Given the description of an element on the screen output the (x, y) to click on. 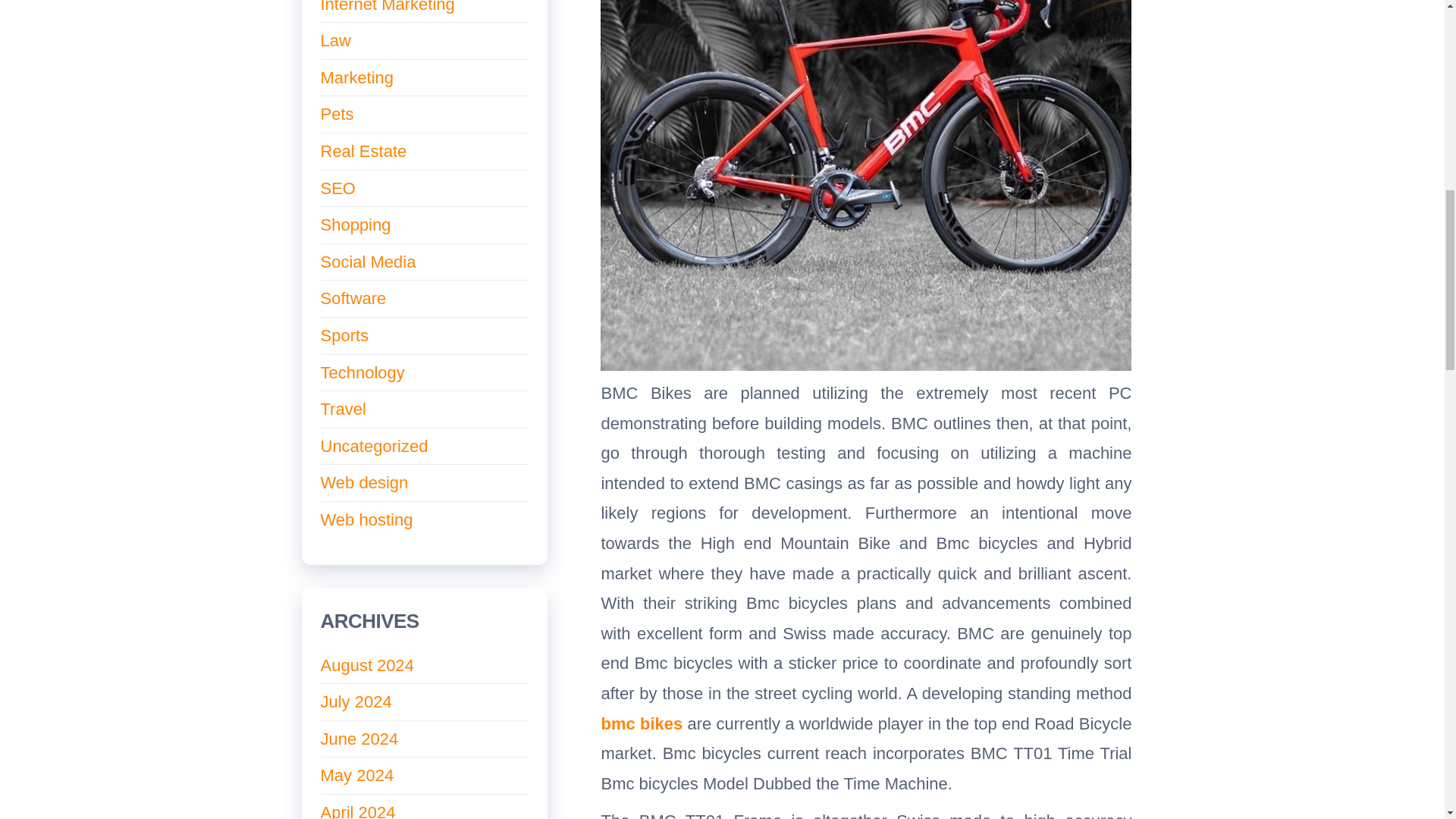
Law (335, 40)
Real Estate (363, 150)
SEO (337, 188)
bmc bikes (640, 723)
Shopping (355, 224)
Marketing (356, 76)
Internet Marketing (387, 6)
Social Media (367, 261)
Pets (336, 113)
